Given the description of an element on the screen output the (x, y) to click on. 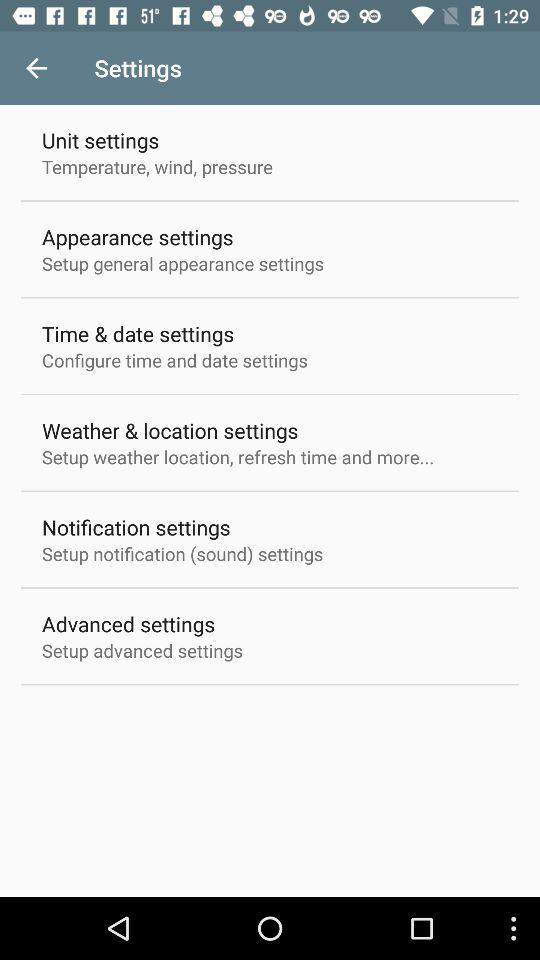
flip until the setup general appearance (183, 263)
